Given the description of an element on the screen output the (x, y) to click on. 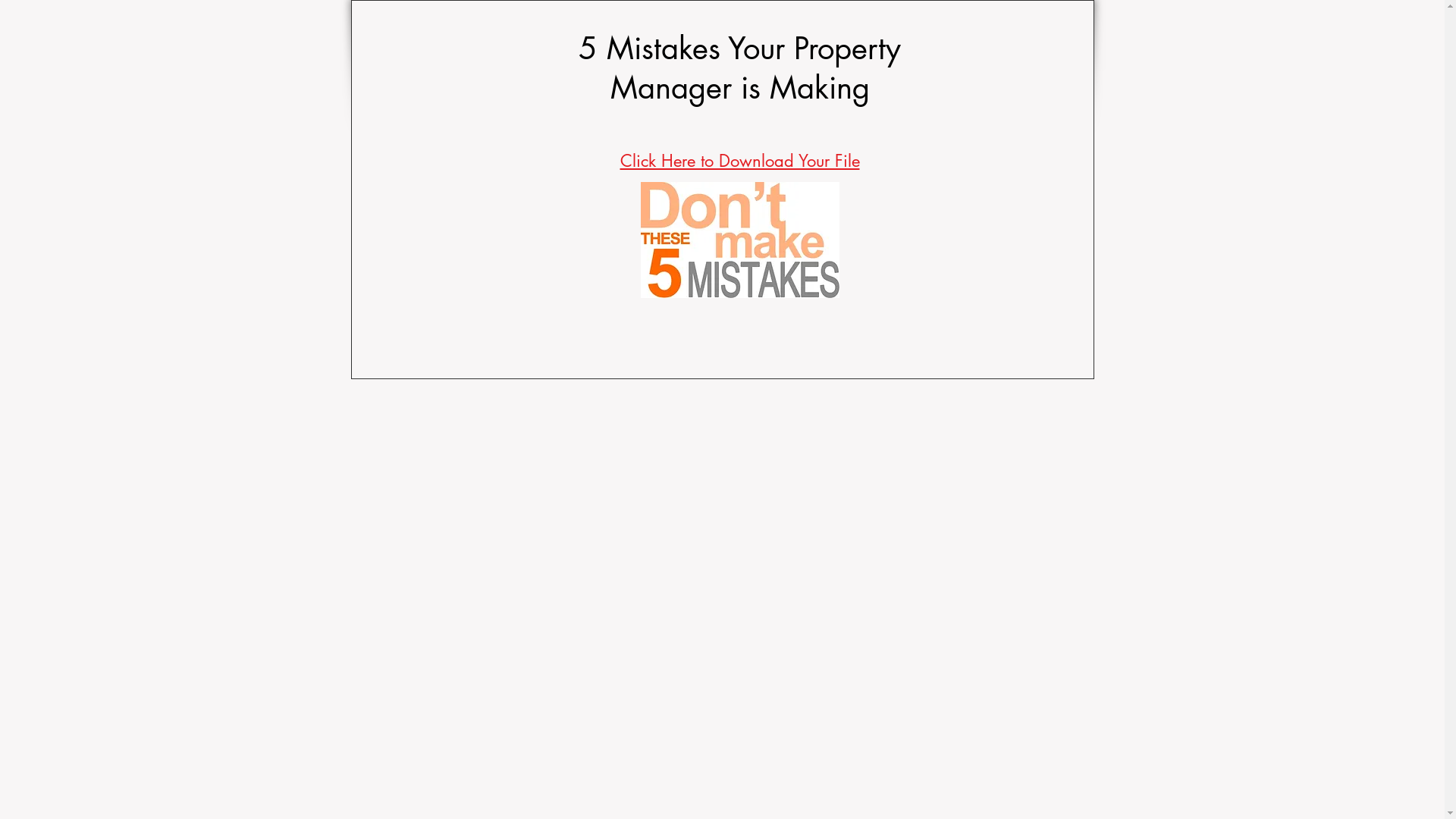
5 Mistakes Your Property manager Is Maki Element type: hover (740, 241)
Click Here to Download Your File Element type: text (739, 160)
